Given the description of an element on the screen output the (x, y) to click on. 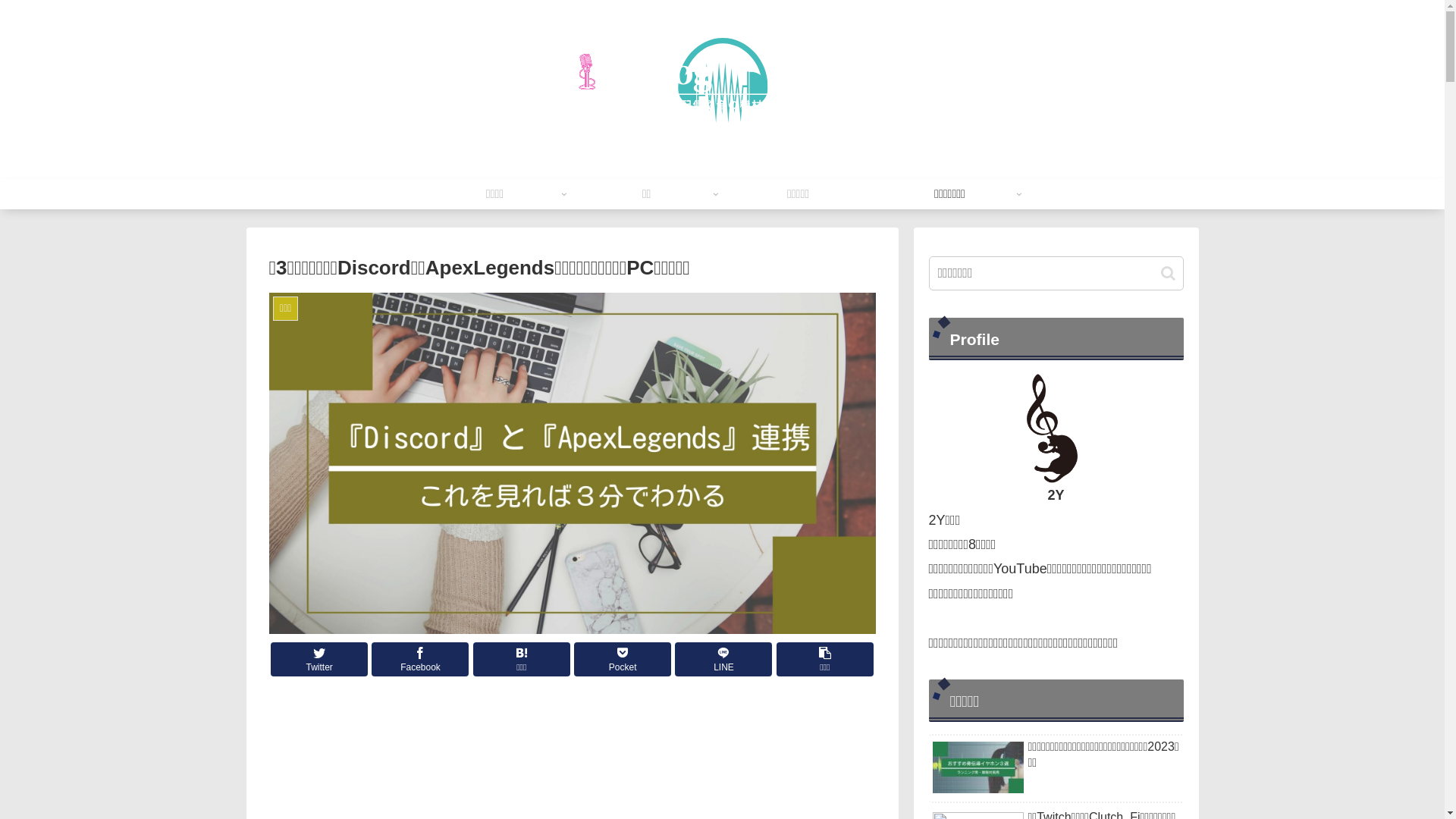
LINE Element type: text (722, 659)
Facebook Element type: text (419, 659)
Twitter Element type: text (318, 659)
Pocket Element type: text (622, 659)
